Given the description of an element on the screen output the (x, y) to click on. 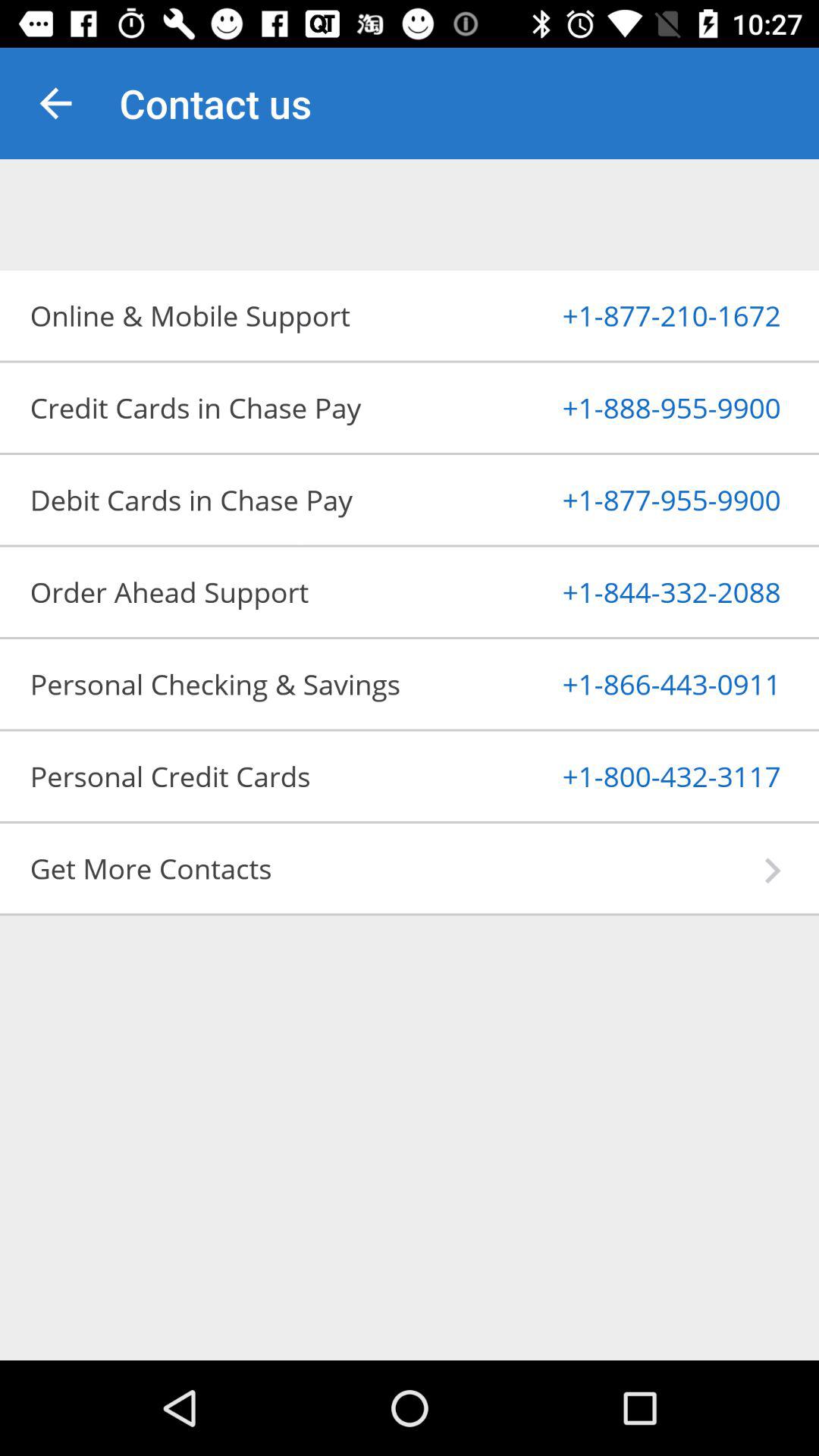
open 1 800 432 item (634, 776)
